Given the description of an element on the screen output the (x, y) to click on. 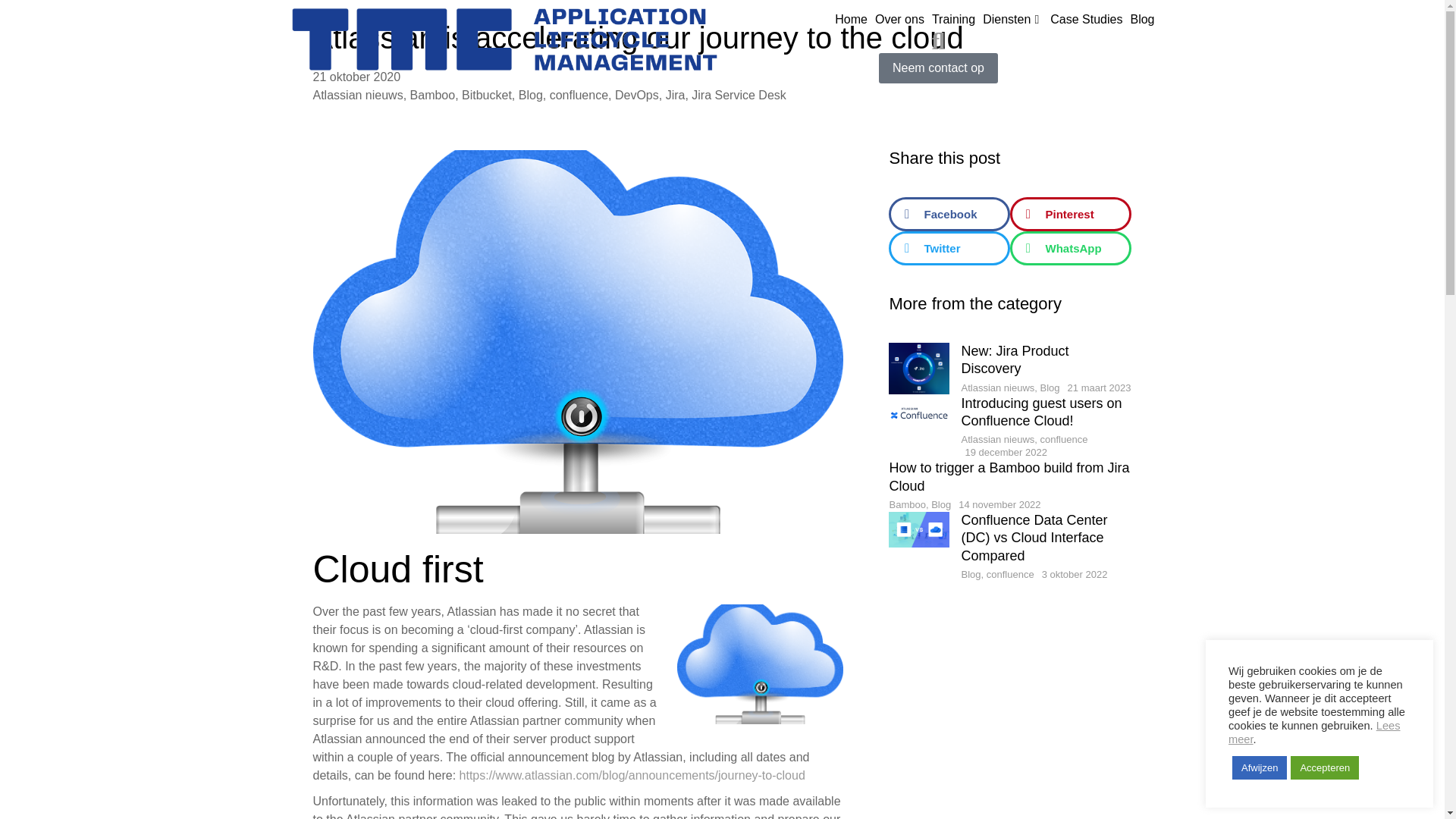
New: Jira Product Discovery (1045, 360)
How to trigger a Bamboo build from Jira Cloud (1009, 477)
Neem contact op (938, 68)
Blog (1141, 19)
Introducing guest users on Confluence Cloud! (1045, 412)
Over ons (899, 19)
Training (953, 19)
Case Studies (1085, 19)
Diensten (1012, 19)
Home (850, 19)
